Given the description of an element on the screen output the (x, y) to click on. 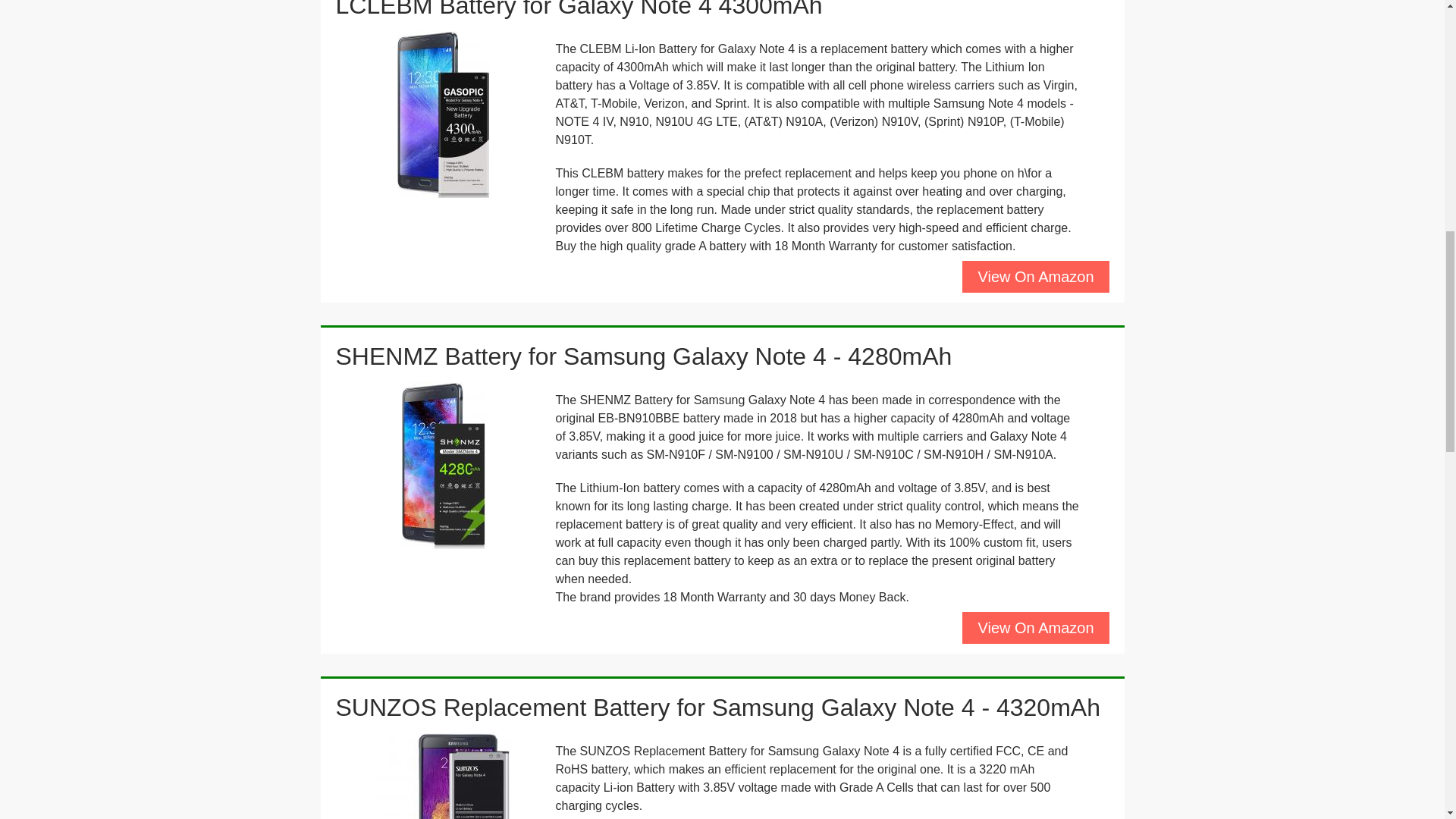
View On Amazon (1035, 276)
LCLEBM Battery for Galaxy Note 4 4300mAh (578, 9)
SHENMZ Battery for Samsung Galaxy Note 4 - 4280mAh (643, 356)
View On Amazon (1035, 627)
